Given the description of an element on the screen output the (x, y) to click on. 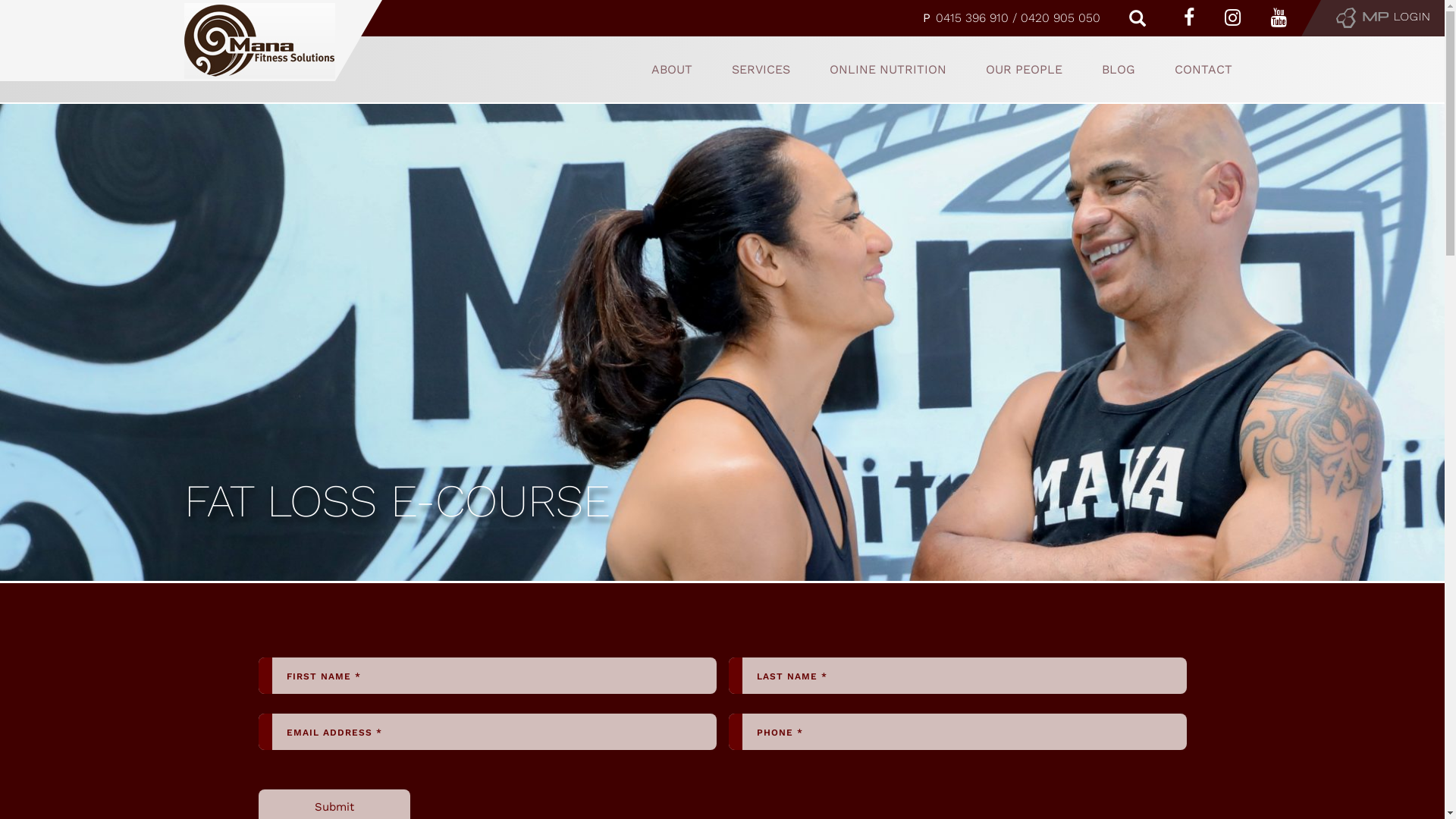
ONLINE NUTRITION Element type: text (887, 69)
BLOG Element type: text (1117, 69)
CONTACT Element type: text (1202, 69)
SERVICES Element type: text (760, 69)
ABOUT Element type: text (670, 69)
OUR PEOPLE Element type: text (1023, 69)
Go Element type: text (17, 20)
